Given the description of an element on the screen output the (x, y) to click on. 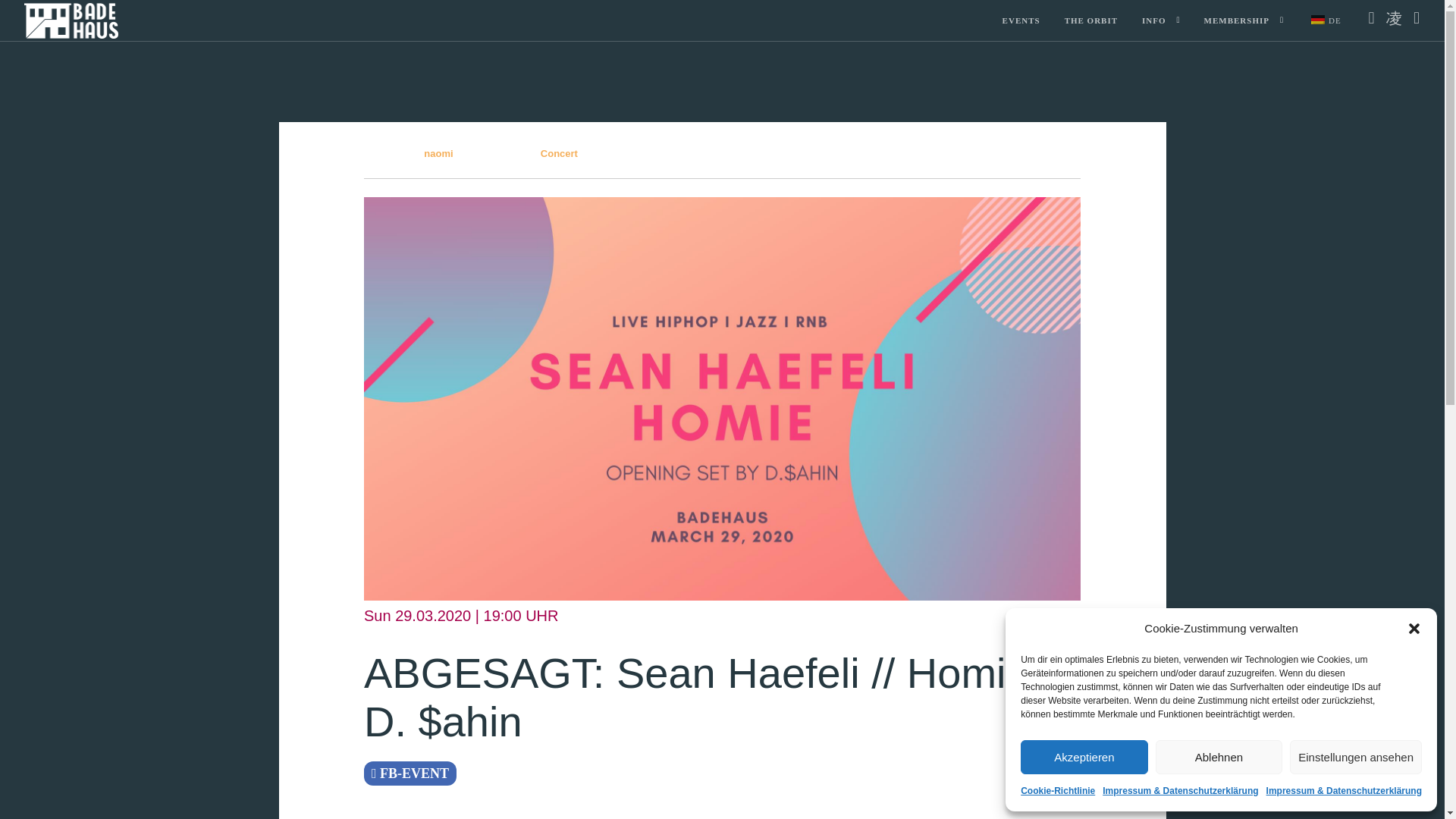
MEMBERSHIP (1236, 21)
View all posts in Concert (559, 153)
Einstellungen ansehen (1356, 756)
FB-EVENT (410, 773)
Ablehnen (1219, 756)
Cookie-Richtlinie (1057, 791)
Posts by naomi (437, 153)
Concert (559, 153)
EVENTS (1022, 21)
THE ORBIT (1091, 21)
naomi (437, 153)
German (1317, 19)
Akzeptieren (1084, 756)
